Given the description of an element on the screen output the (x, y) to click on. 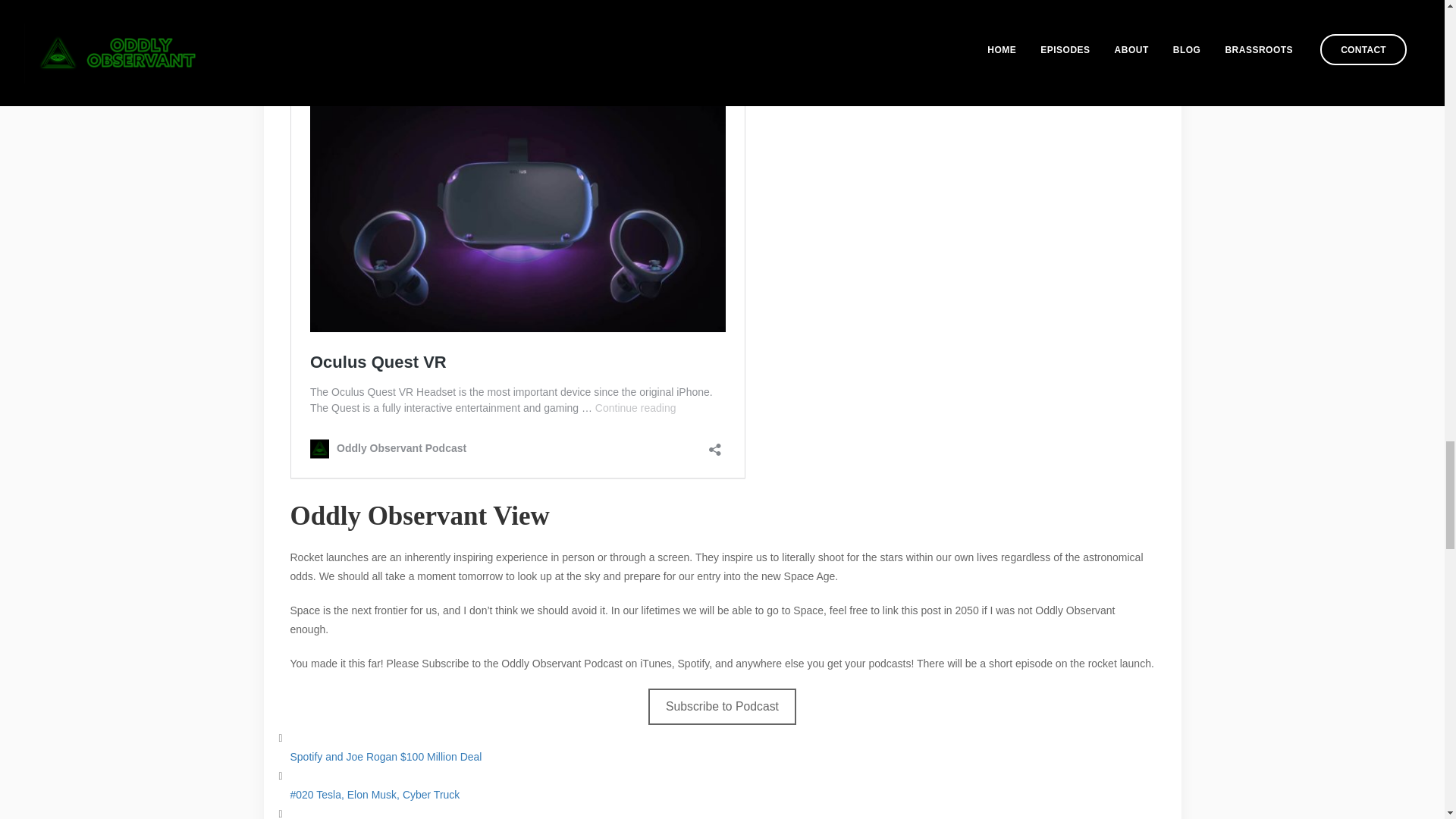
Subscribe to Podcast (721, 705)
Elon Musk (314, 33)
